Given the description of an element on the screen output the (x, y) to click on. 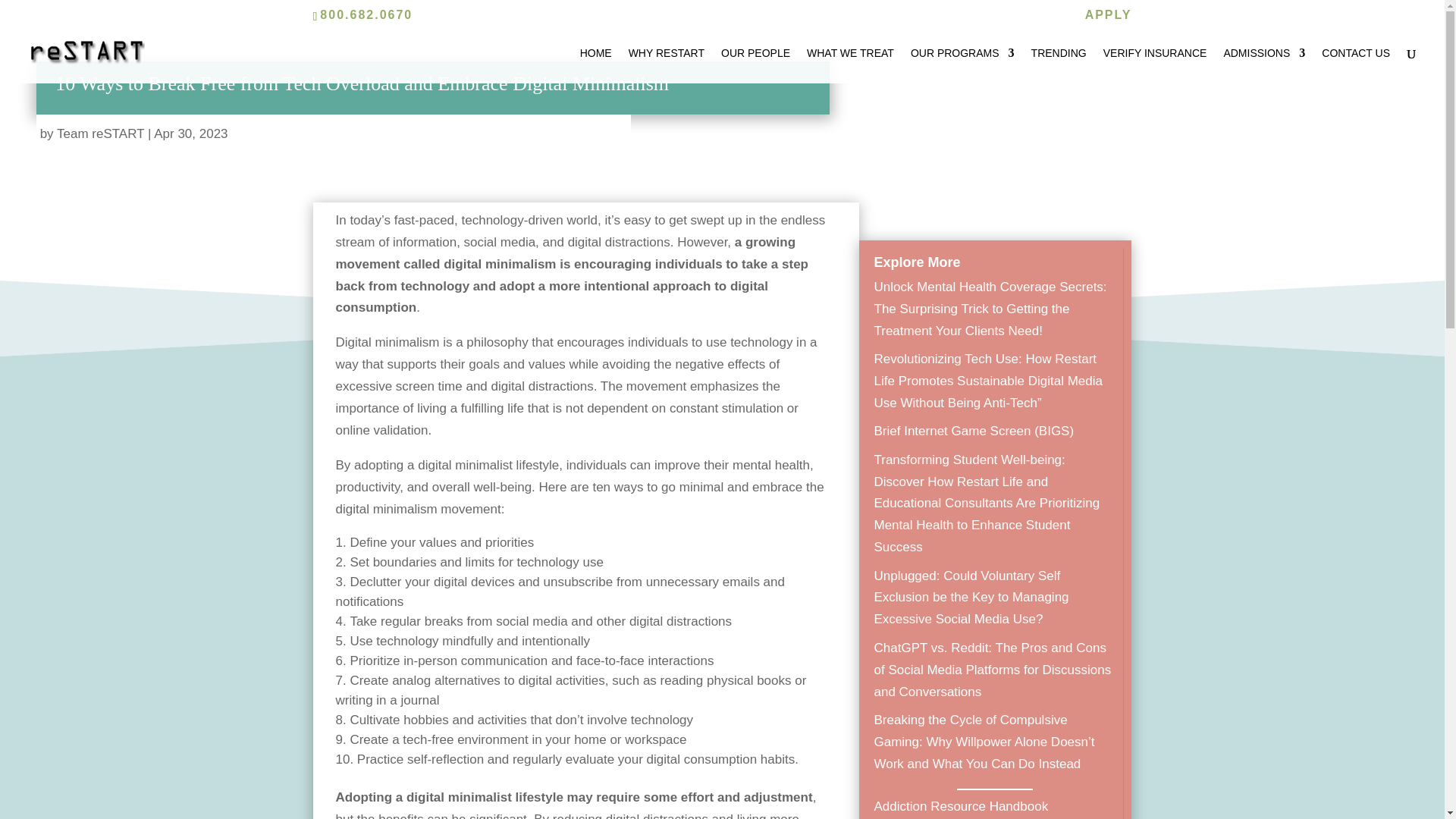
HOME (595, 65)
OUR PROGRAMS (962, 65)
ADMISSIONS (1263, 65)
CONTACT US (1356, 65)
TRENDING (1058, 65)
OUR PEOPLE (755, 65)
WHAT WE TREAT (849, 65)
APPLY (1108, 19)
VERIFY INSURANCE (1155, 65)
Posts by Team reSTART (100, 133)
WHY RESTART (666, 65)
